Given the description of an element on the screen output the (x, y) to click on. 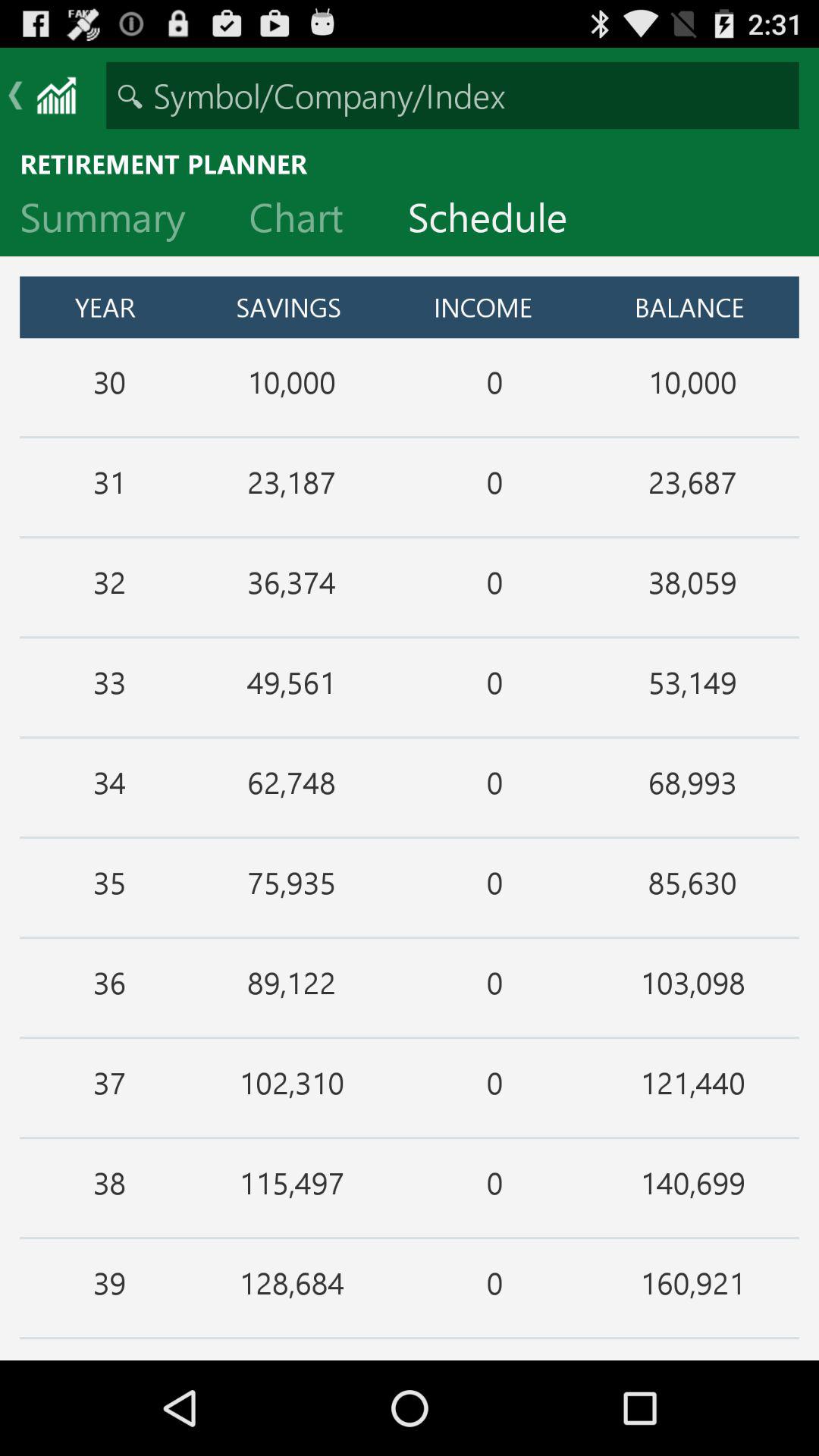
stock ticker search bar (452, 95)
